Given the description of an element on the screen output the (x, y) to click on. 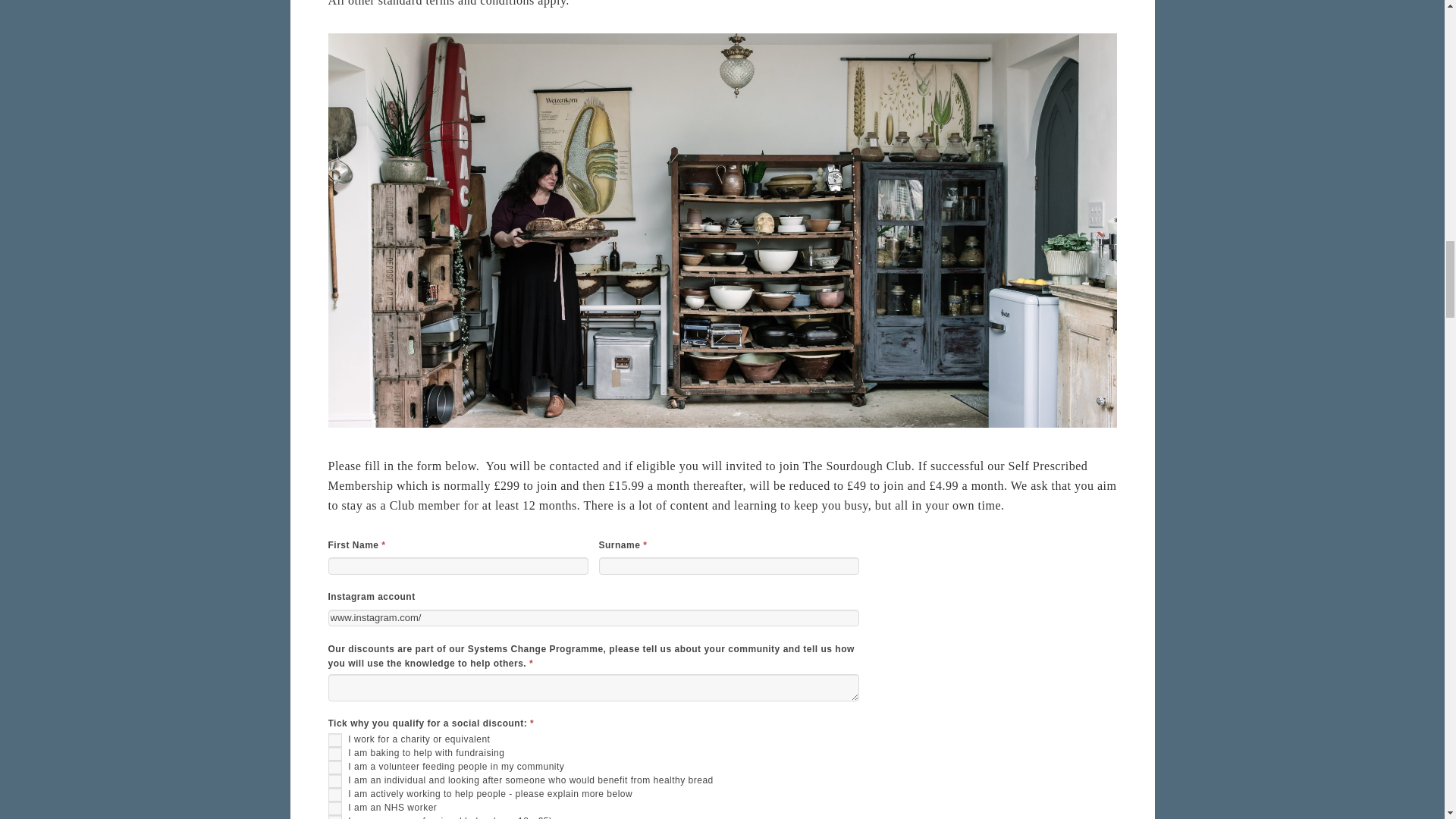
I am an NHS worker (333, 807)
I am a volunteer feeding people in my community (333, 766)
I am baking to help with fundraising (333, 753)
I work for a charity or equivalent (333, 739)
